Given the description of an element on the screen output the (x, y) to click on. 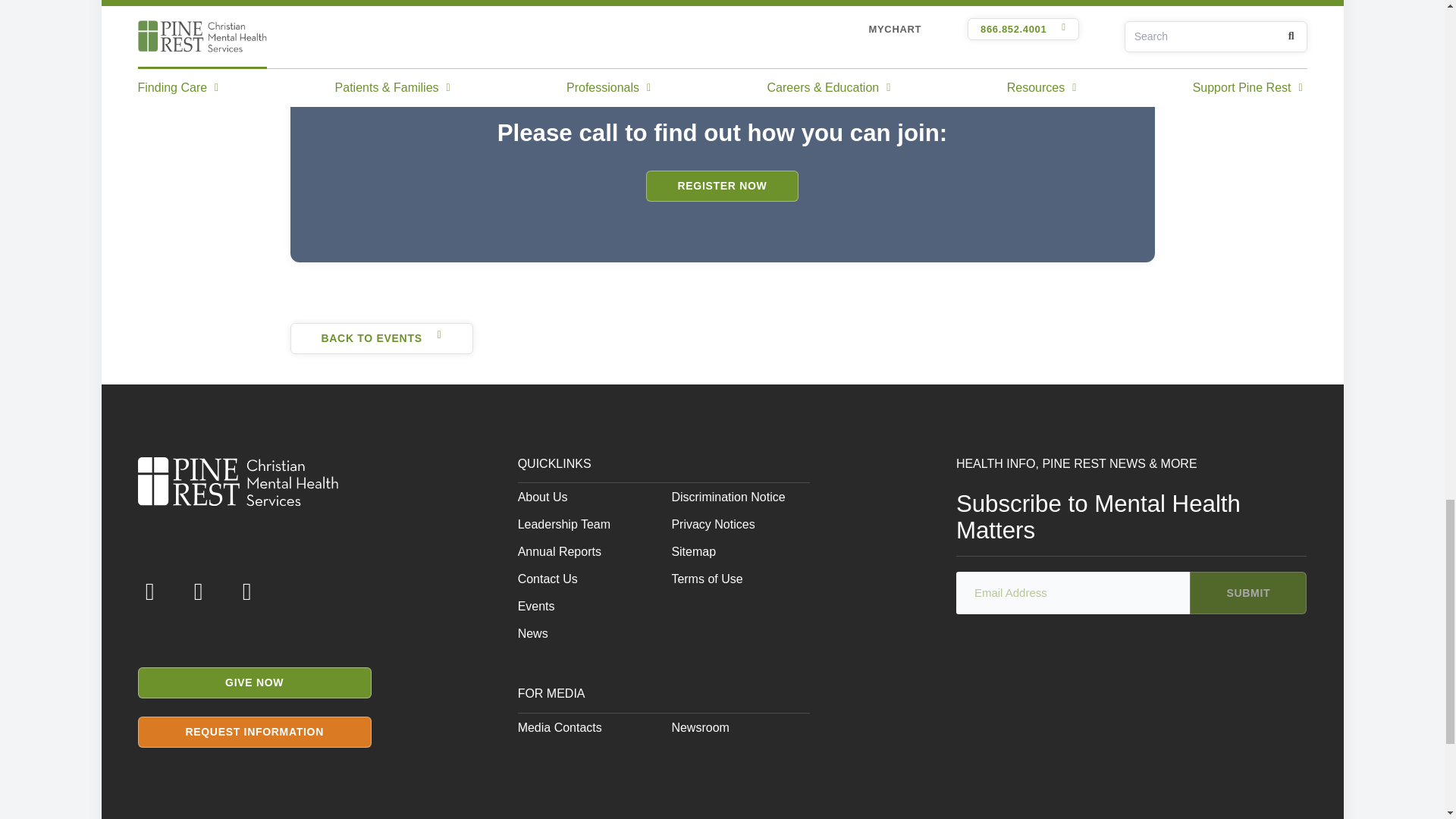
Submit (1247, 592)
